Given the description of an element on the screen output the (x, y) to click on. 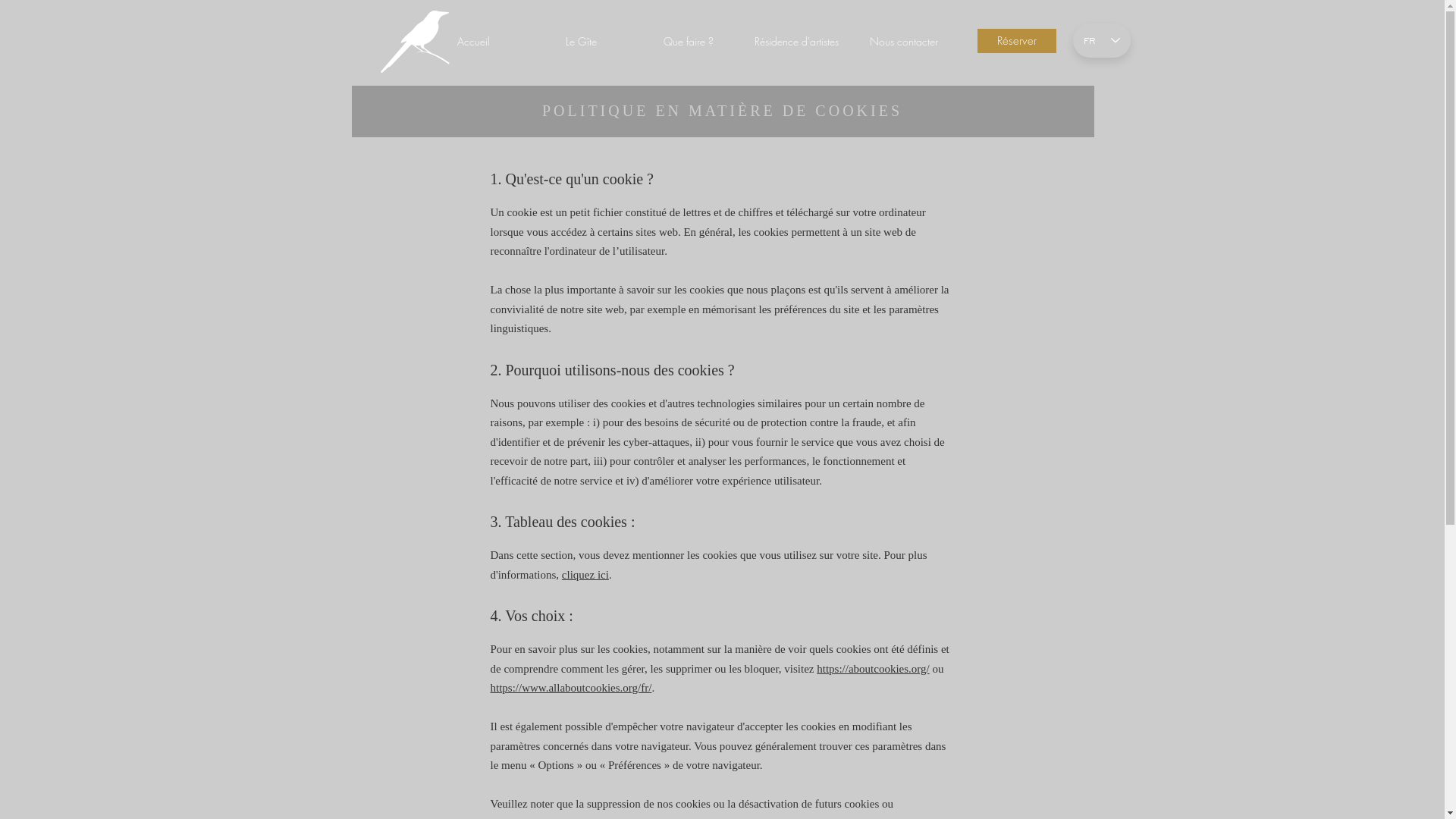
Accueil Element type: text (472, 41)
Nous contacter Element type: text (903, 41)
https://www.allaboutcookies.org/fr/ Element type: text (570, 687)
https://aboutcookies.org/ Element type: text (872, 668)
cliquez ici Element type: text (584, 574)
Que faire ? Element type: text (687, 41)
